Given the description of an element on the screen output the (x, y) to click on. 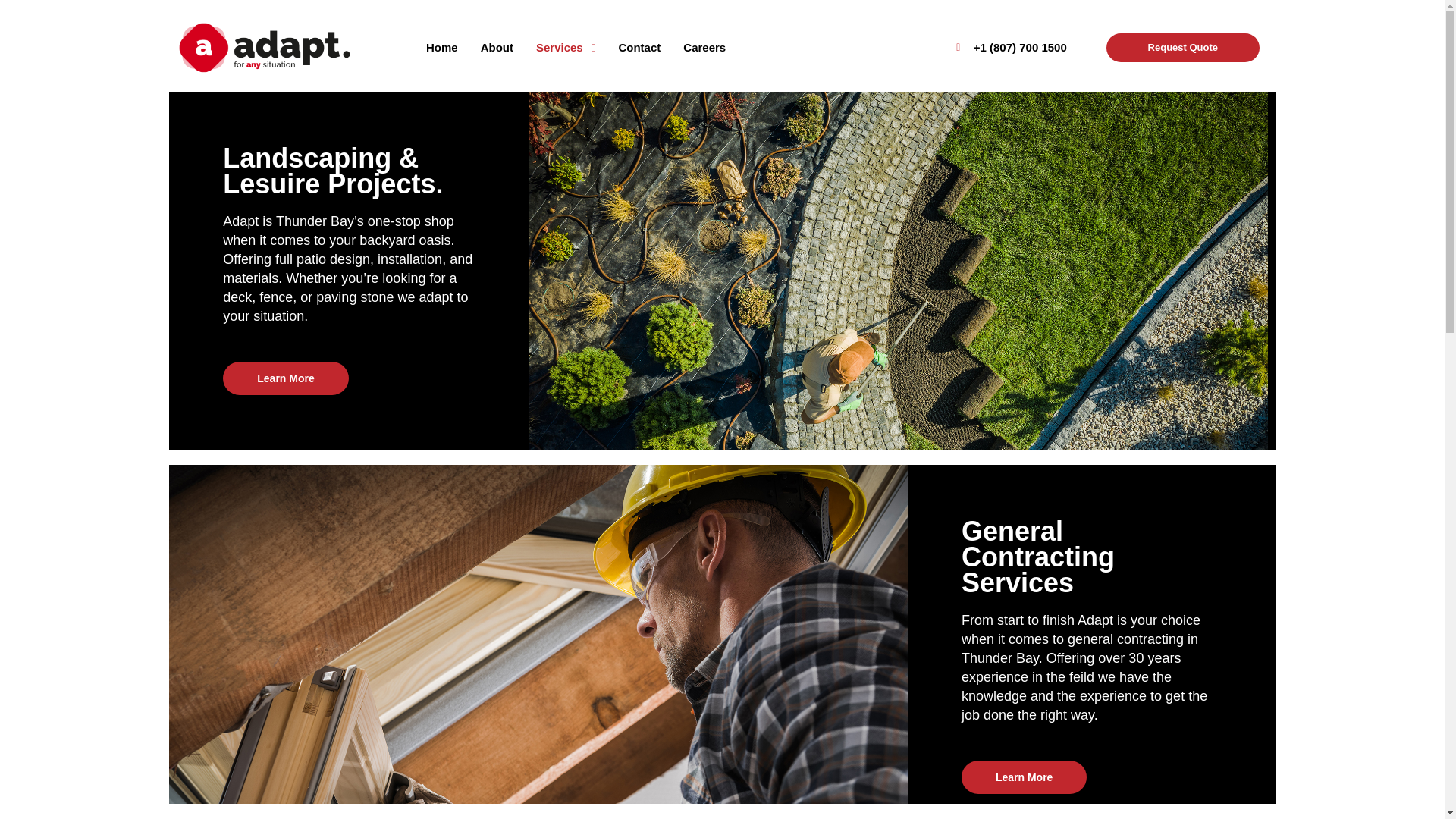
Services (565, 47)
Learn More (284, 377)
Request Quote (1182, 47)
Careers (703, 47)
Learn More (1023, 776)
Home (441, 47)
Contact (639, 47)
About (496, 47)
